Given the description of an element on the screen output the (x, y) to click on. 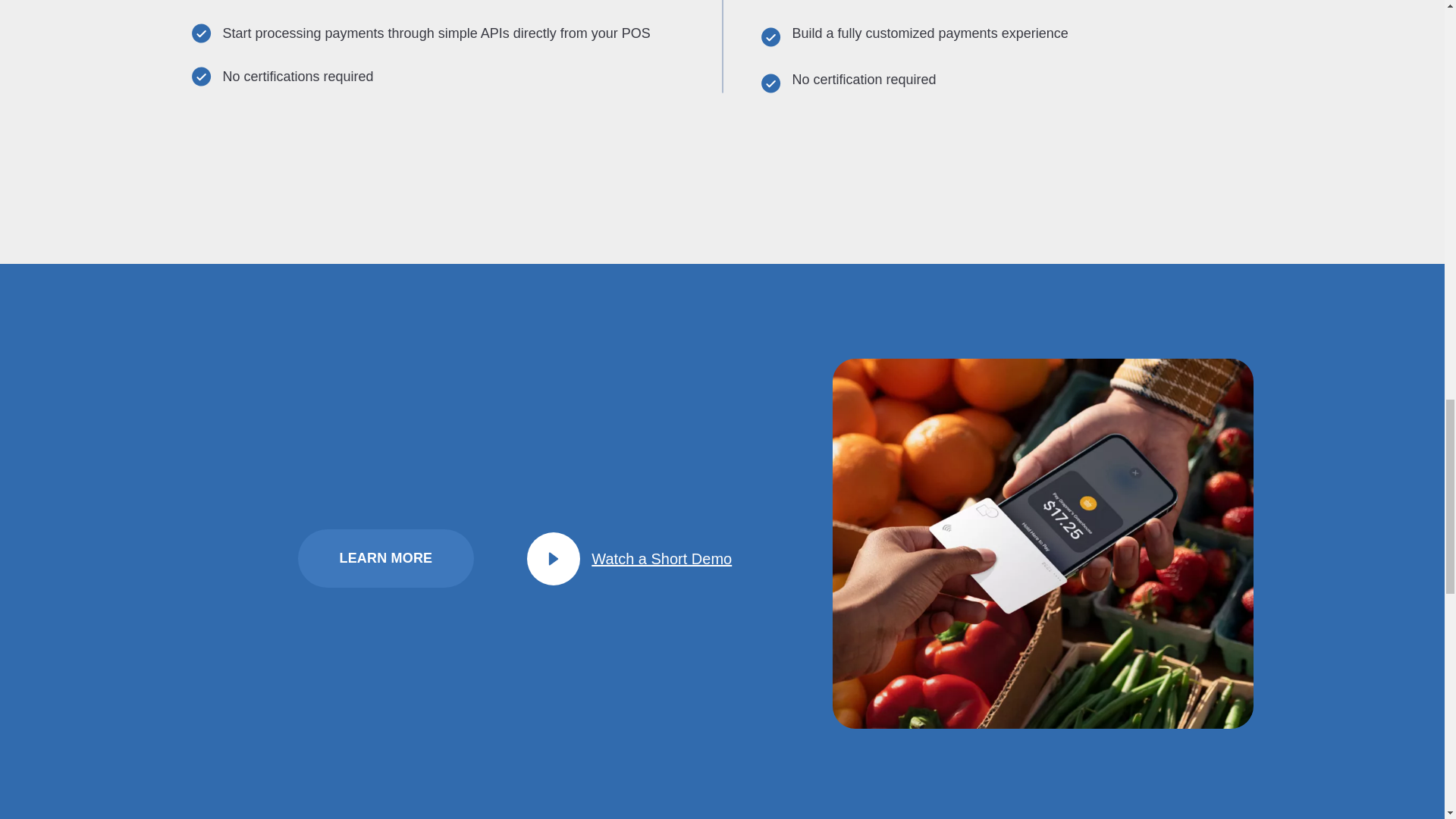
Watch a Short Demo (614, 558)
LEARN MORE (385, 558)
